Given the description of an element on the screen output the (x, y) to click on. 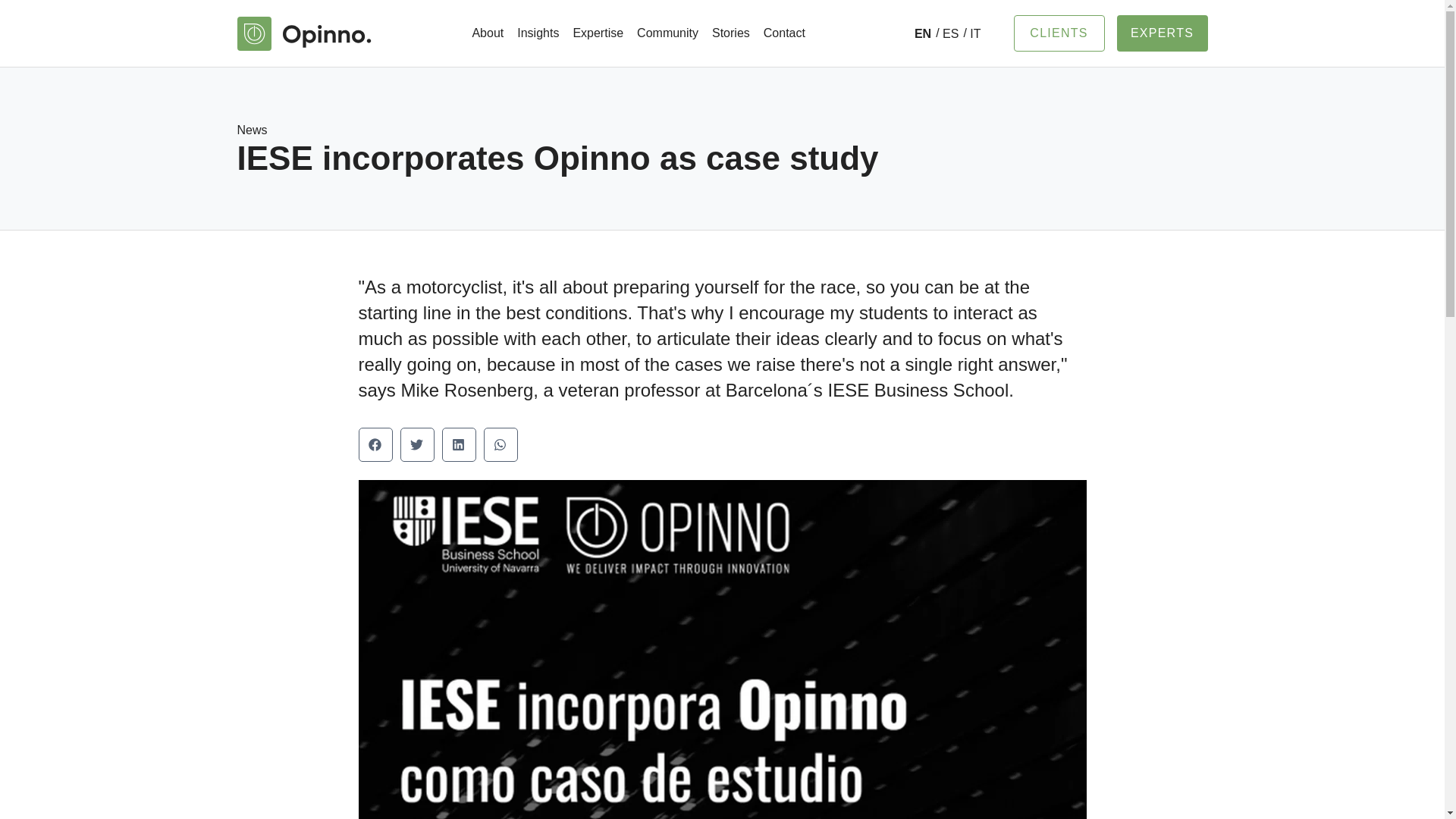
EXPERTS (1161, 33)
About (487, 32)
Stories (730, 32)
Insights (538, 32)
Contact (784, 32)
Community (667, 32)
EN (922, 33)
CLIENTS (1058, 33)
Expertise (598, 32)
ES (946, 33)
